Given the description of an element on the screen output the (x, y) to click on. 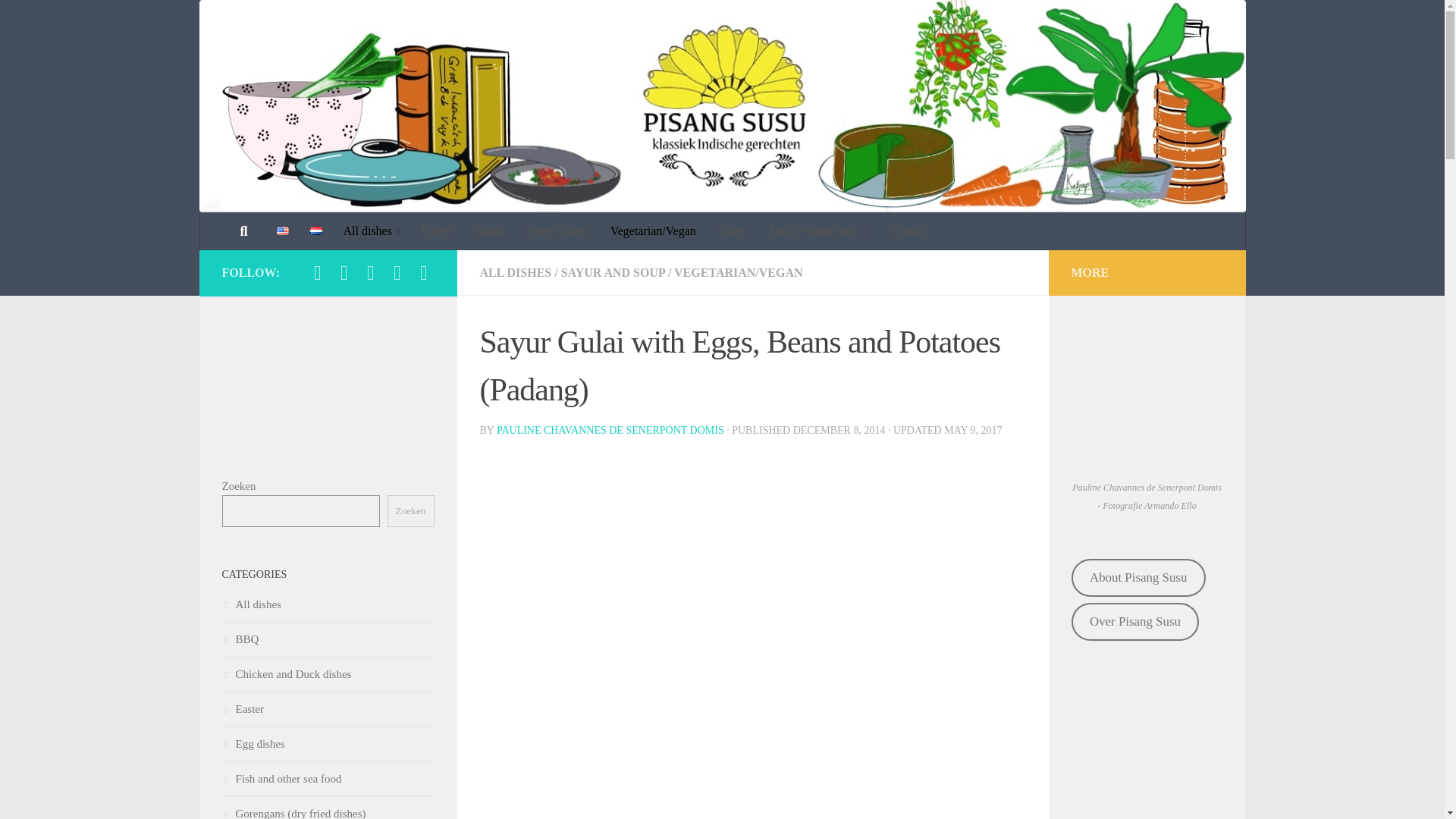
Posts by Pauline Chavannes de Senerpont Domis (609, 430)
Facebook (371, 272)
Instagram (318, 272)
YouTube Channel (397, 272)
Skip to content (59, 20)
Pinterest (343, 272)
